Given the description of an element on the screen output the (x, y) to click on. 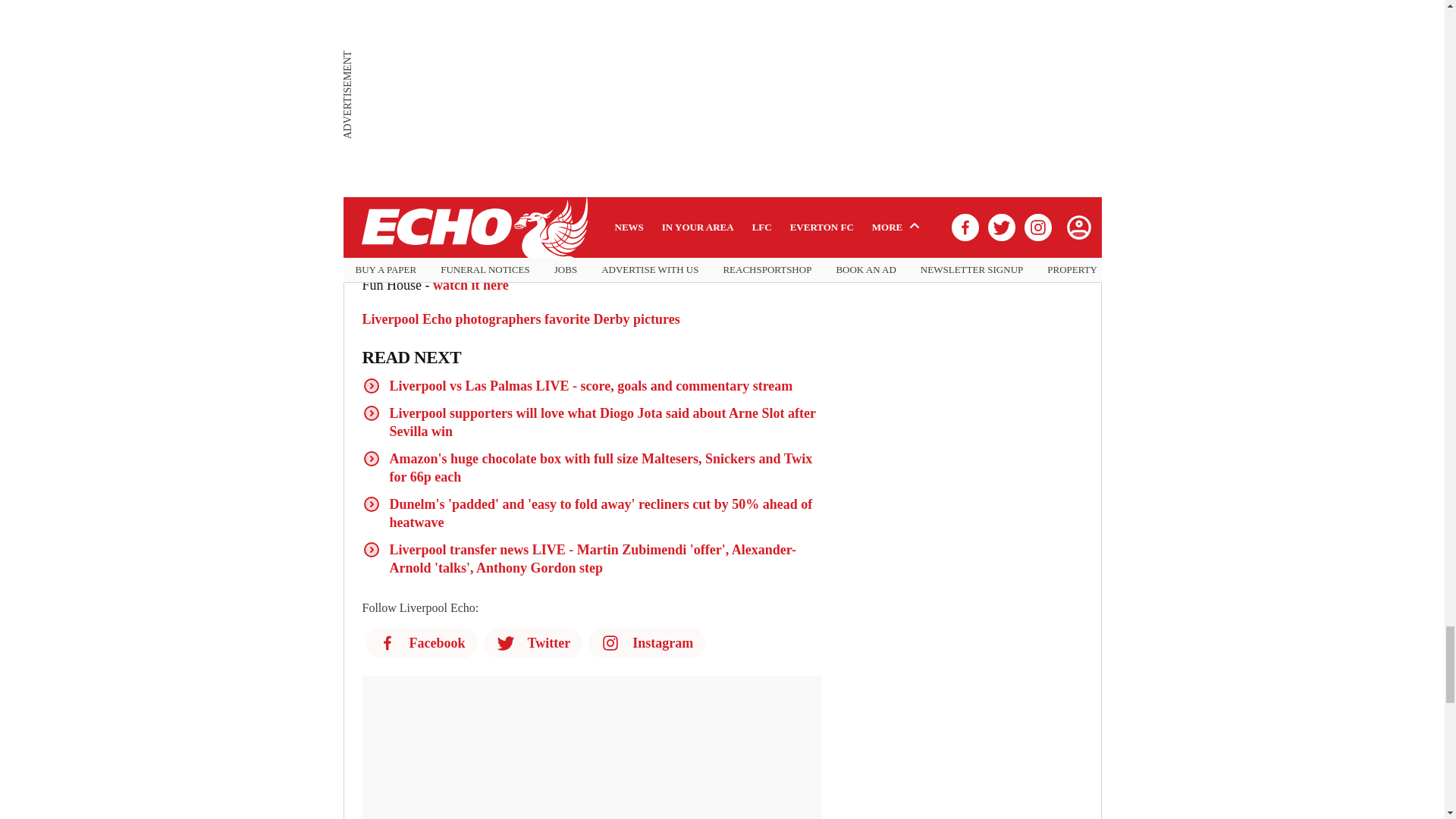
Read Next Article Icon (371, 458)
Read Next Article Icon (371, 385)
Read Next Article Icon (371, 504)
Read Next Article Icon (371, 413)
